Given the description of an element on the screen output the (x, y) to click on. 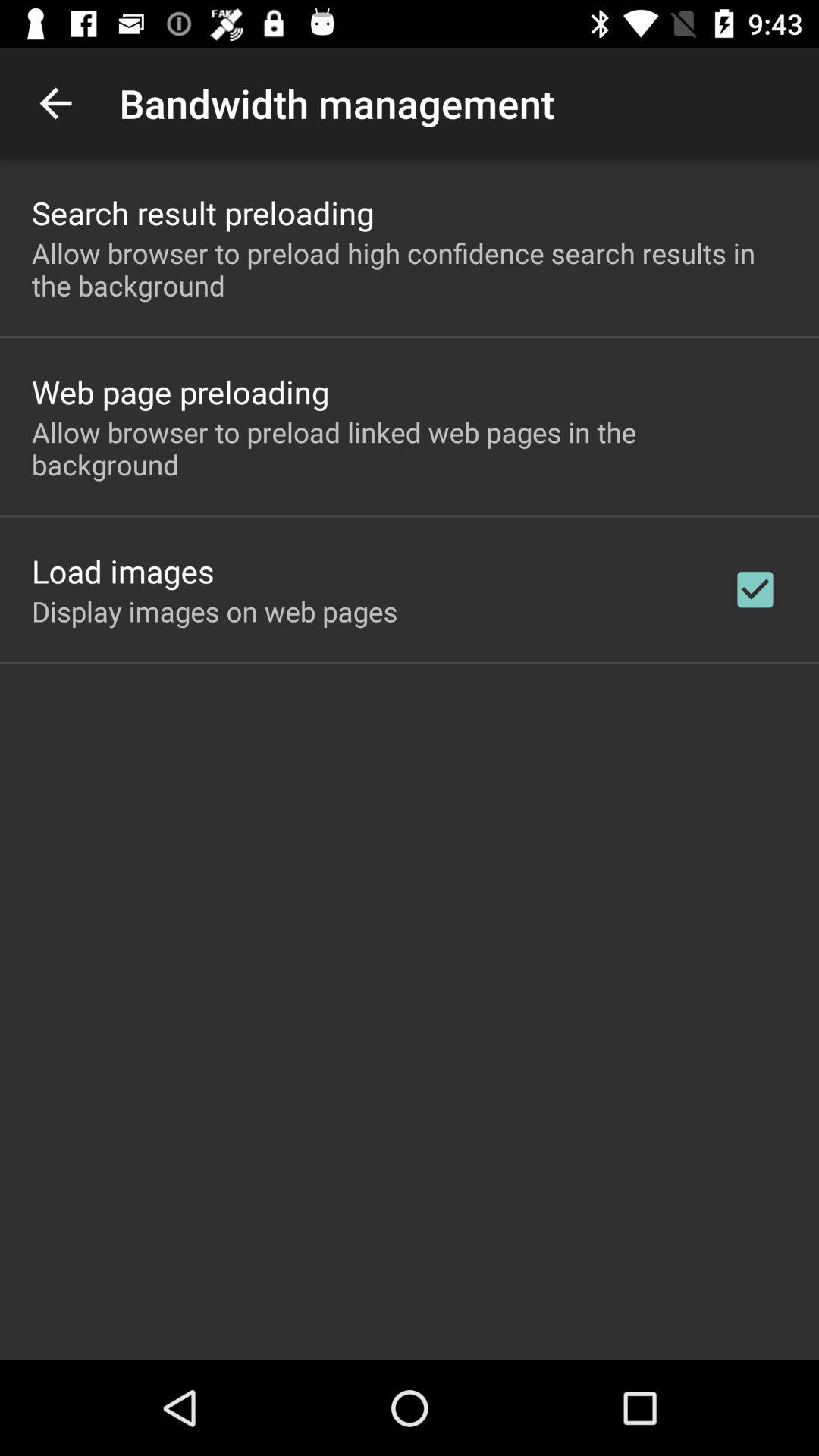
open the icon below the allow browser to (755, 589)
